Given the description of an element on the screen output the (x, y) to click on. 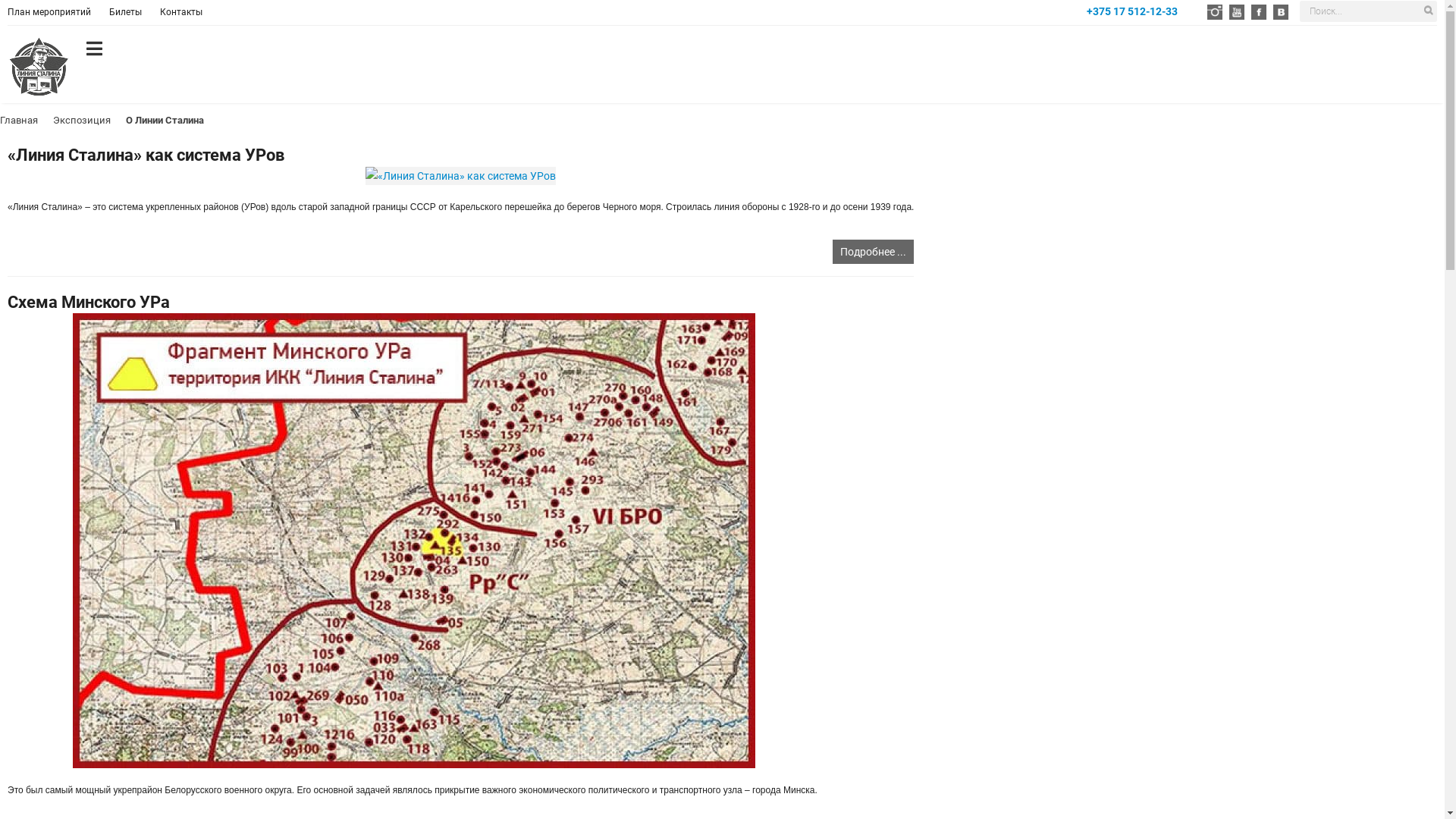
+375 17 512-12-33 Element type: text (1131, 11)
